Given the description of an element on the screen output the (x, y) to click on. 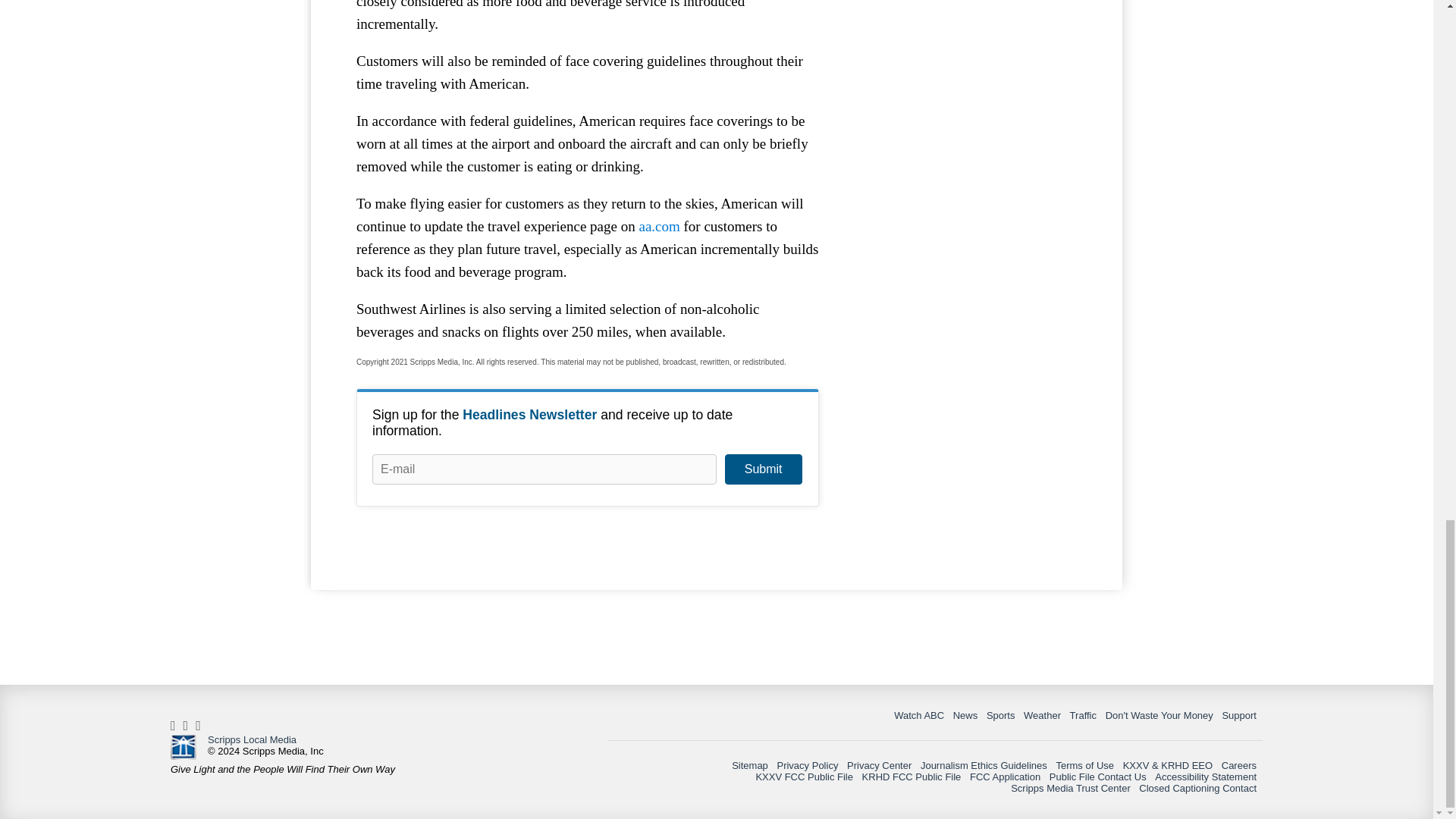
Submit (763, 469)
